Given the description of an element on the screen output the (x, y) to click on. 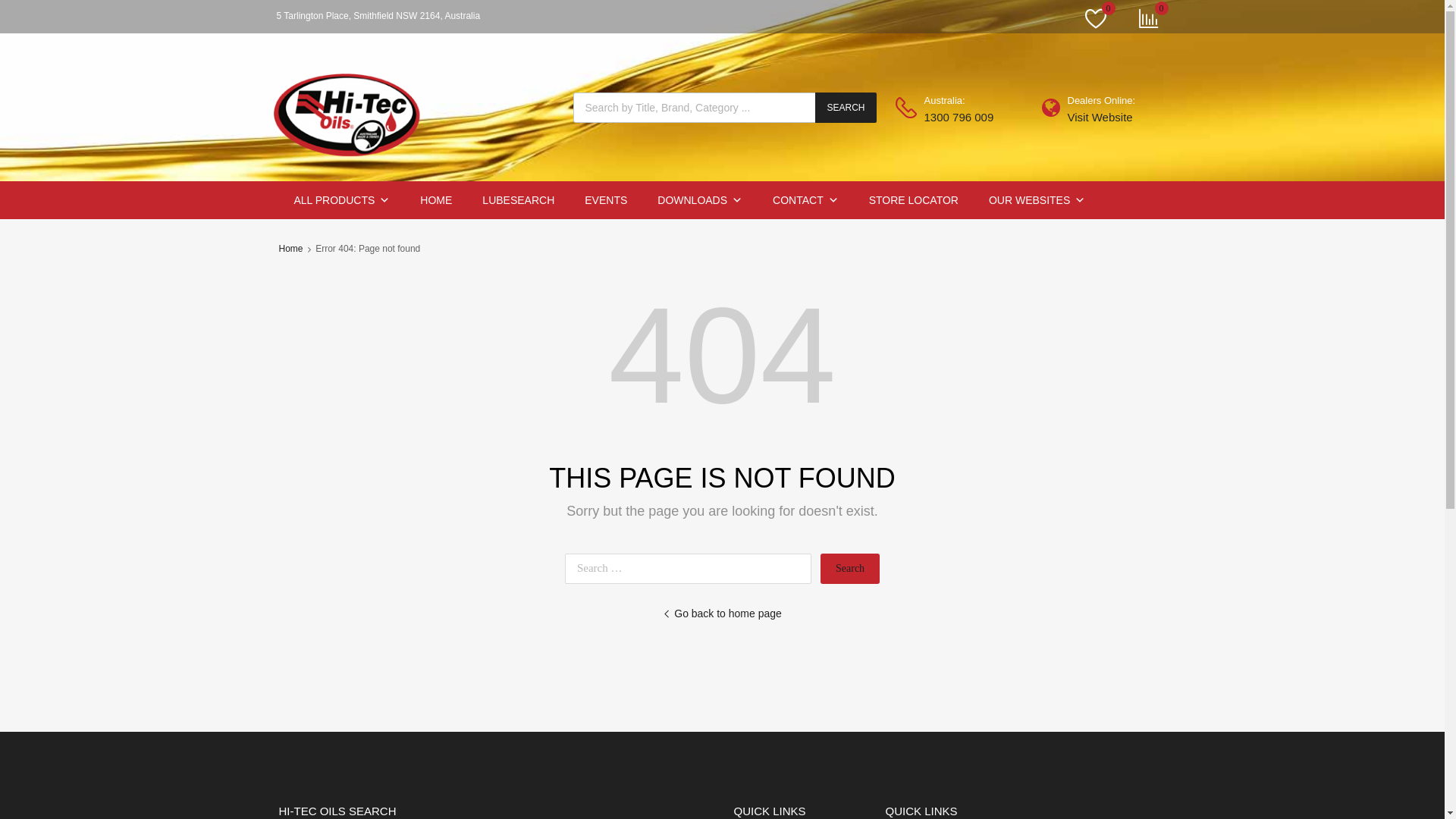
LUBESEARCH Element type: text (518, 200)
STORE LOCATOR Element type: text (913, 200)
SEARCH Element type: text (845, 107)
Visit Website Element type: text (1104, 117)
Search Element type: text (849, 568)
Hi-Tec Oils Element type: hover (348, 164)
EVENTS Element type: text (605, 200)
DOWNLOADS Element type: text (699, 200)
ALL PRODUCTS Element type: text (342, 200)
Go back to home page Element type: text (721, 613)
Home Element type: text (291, 248)
1300 796 009 Element type: text (960, 117)
HOME Element type: text (435, 200)
CONTACT Element type: text (805, 200)
OUR WEBSITES Element type: text (1036, 200)
